Given the description of an element on the screen output the (x, y) to click on. 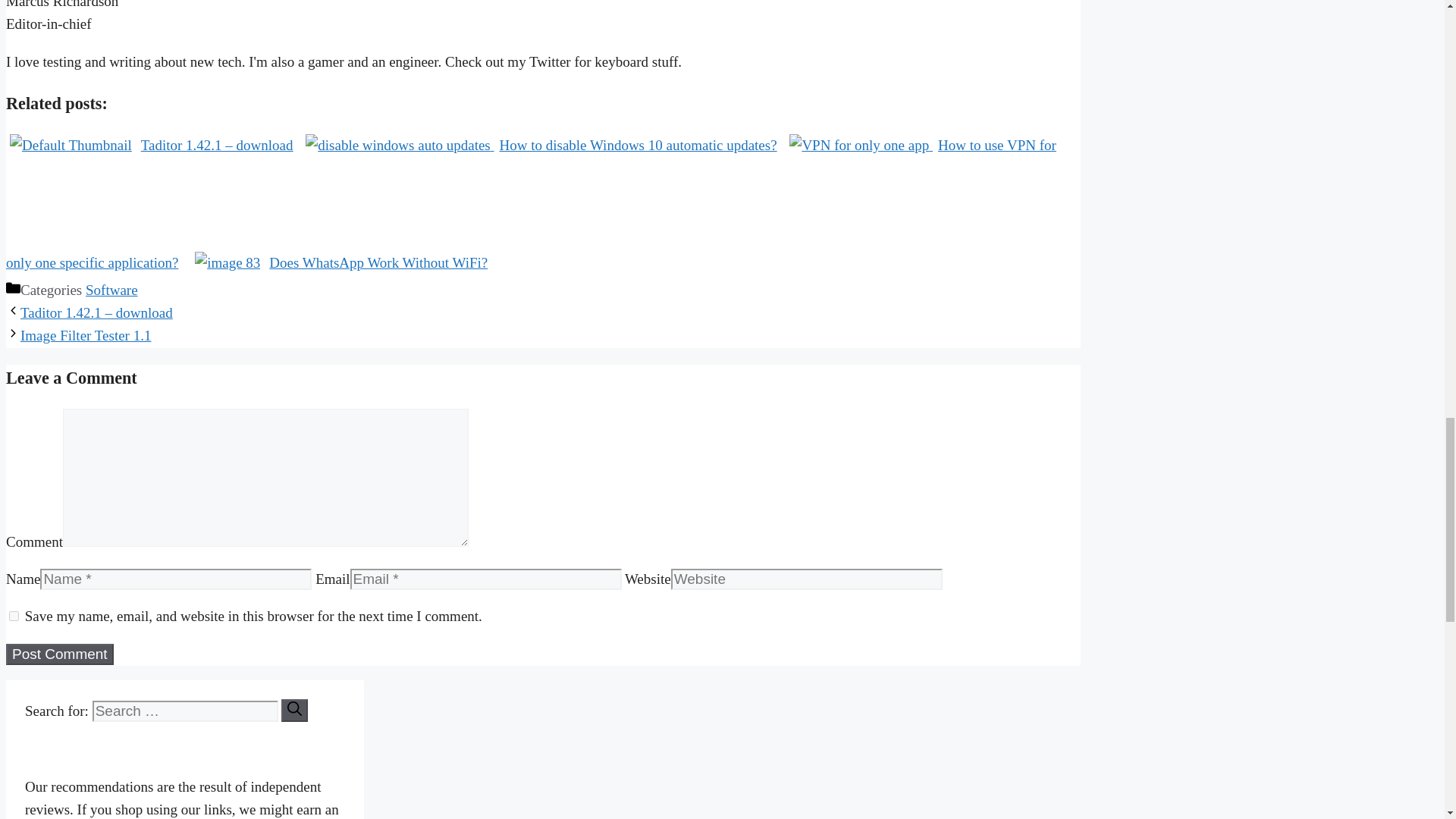
Does WhatsApp Work Without WiFi? (341, 262)
Image Filter Tester 1.1 (85, 335)
How to disable Windows 10 automatic updates? (543, 145)
Post Comment (59, 654)
Search for: (185, 711)
How to use VPN for only one specific application? 10 (858, 145)
yes (13, 615)
How to disable Windows 10 automatic updates? (543, 145)
Software (111, 289)
Does WhatsApp Work Without WiFi? 11 (227, 262)
Does WhatsApp Work Without WiFi? (341, 262)
Post Comment (59, 654)
How to disable Windows 10 automatic updates? 9 (397, 145)
